Given the description of an element on the screen output the (x, y) to click on. 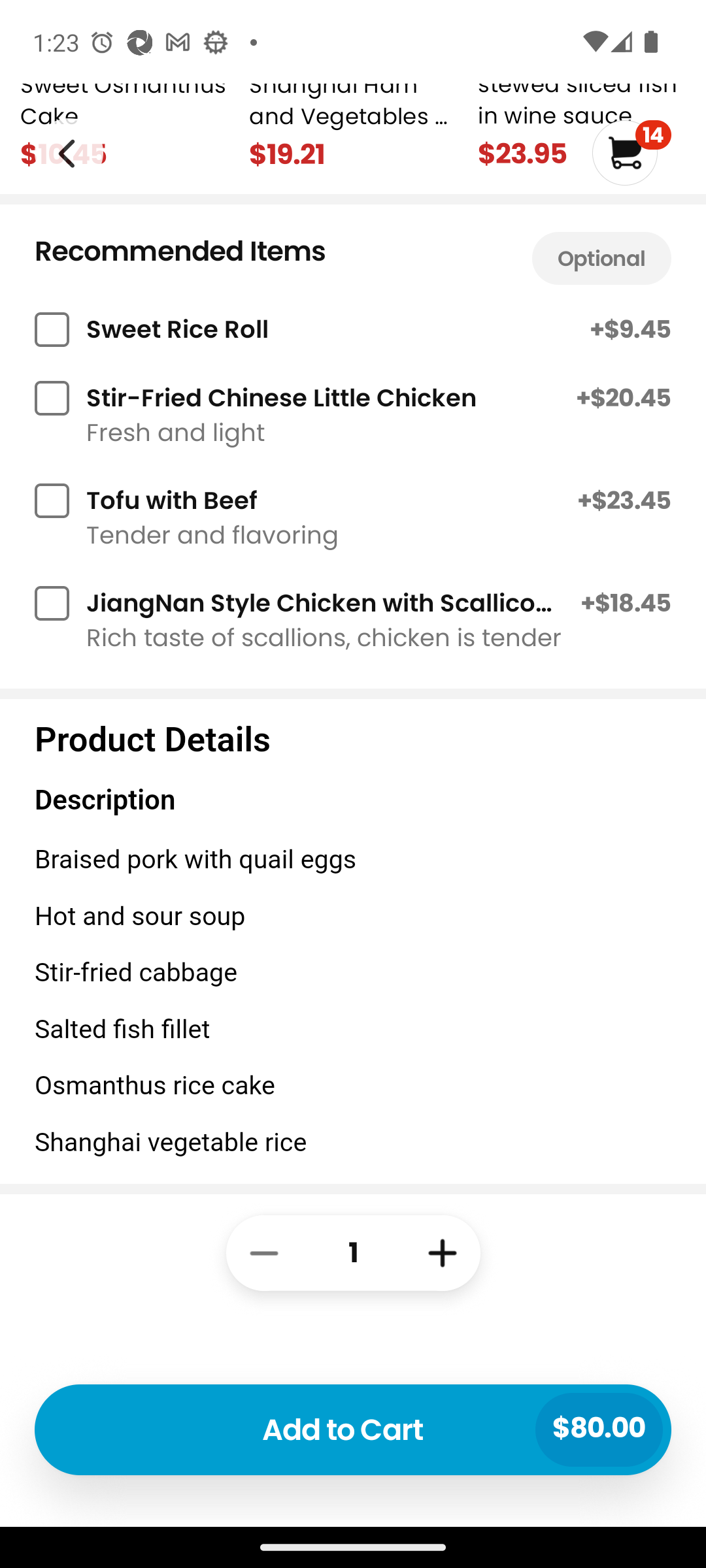
Image (68, 151)
14 (631, 152)
Recommended Items Optional (353, 253)
1 (353, 1355)
Add to Cart $80.00 (352, 1429)
